Given the description of an element on the screen output the (x, y) to click on. 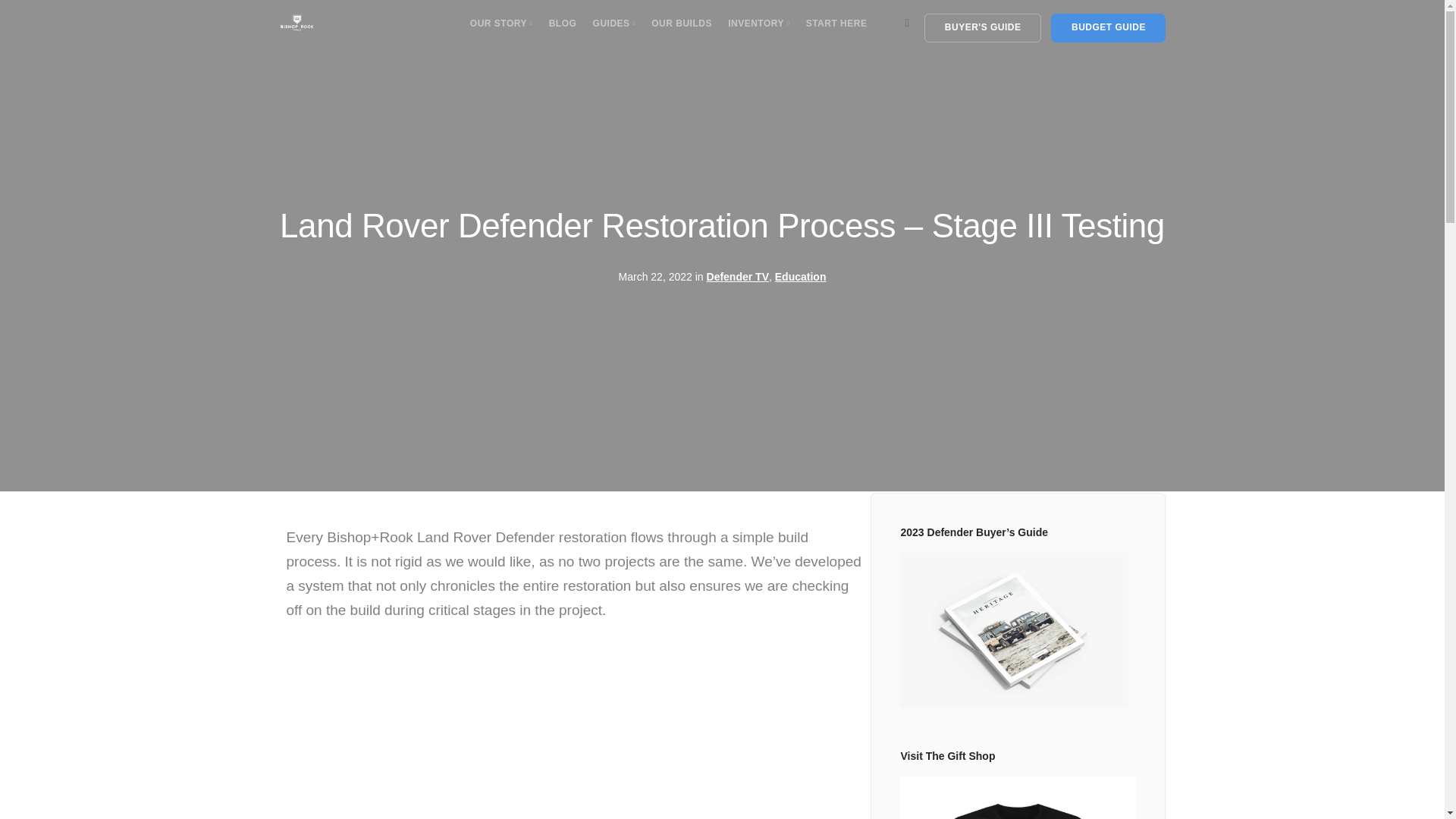
BLOG (562, 23)
GUIDES (613, 23)
OUR STORY (501, 23)
